Given the description of an element on the screen output the (x, y) to click on. 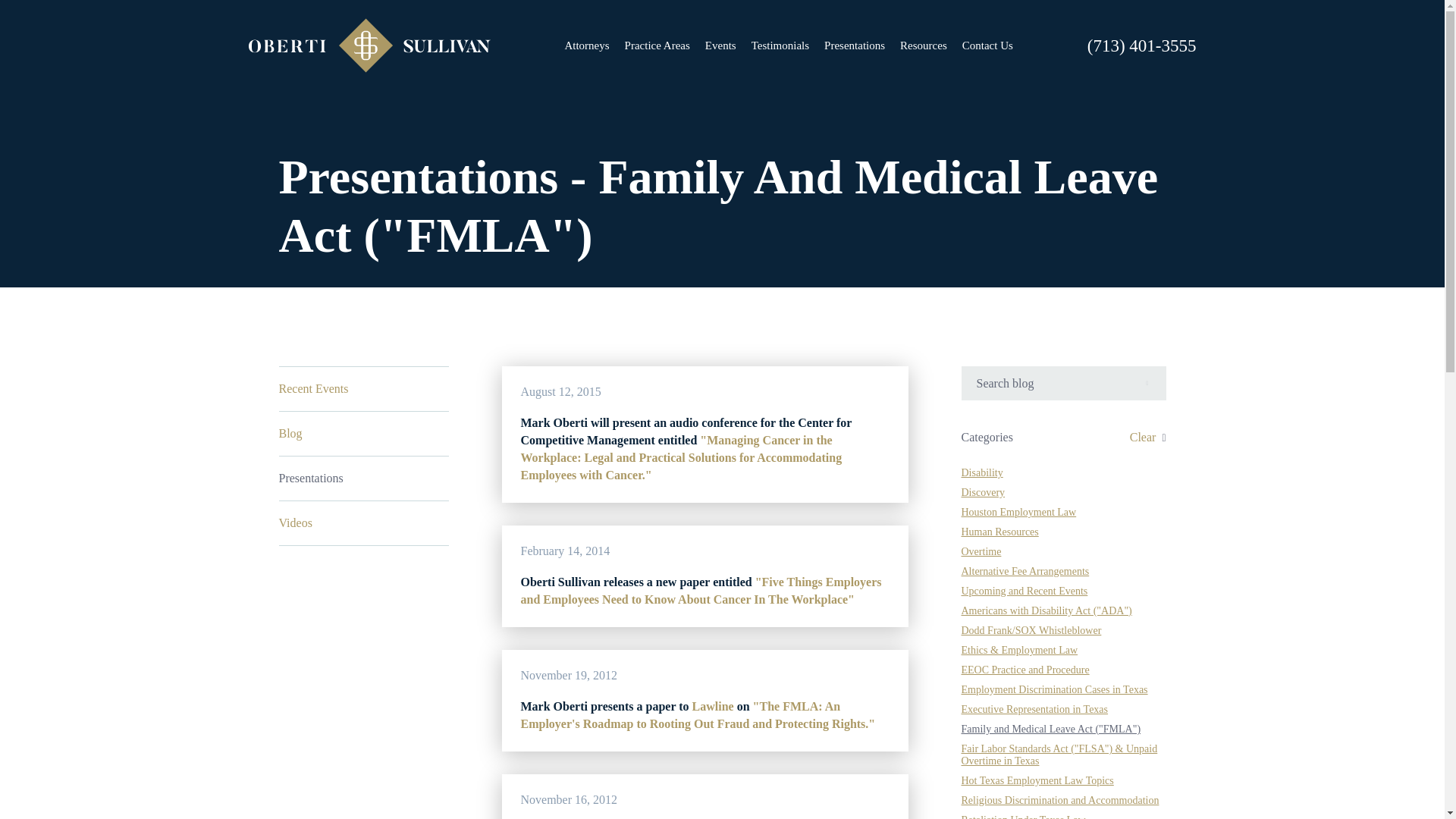
Resources (923, 45)
Practice Areas (657, 45)
Events (720, 45)
Attorneys (586, 45)
Presentations (854, 45)
Testimonials (780, 45)
Contact Us (987, 45)
